Given the description of an element on the screen output the (x, y) to click on. 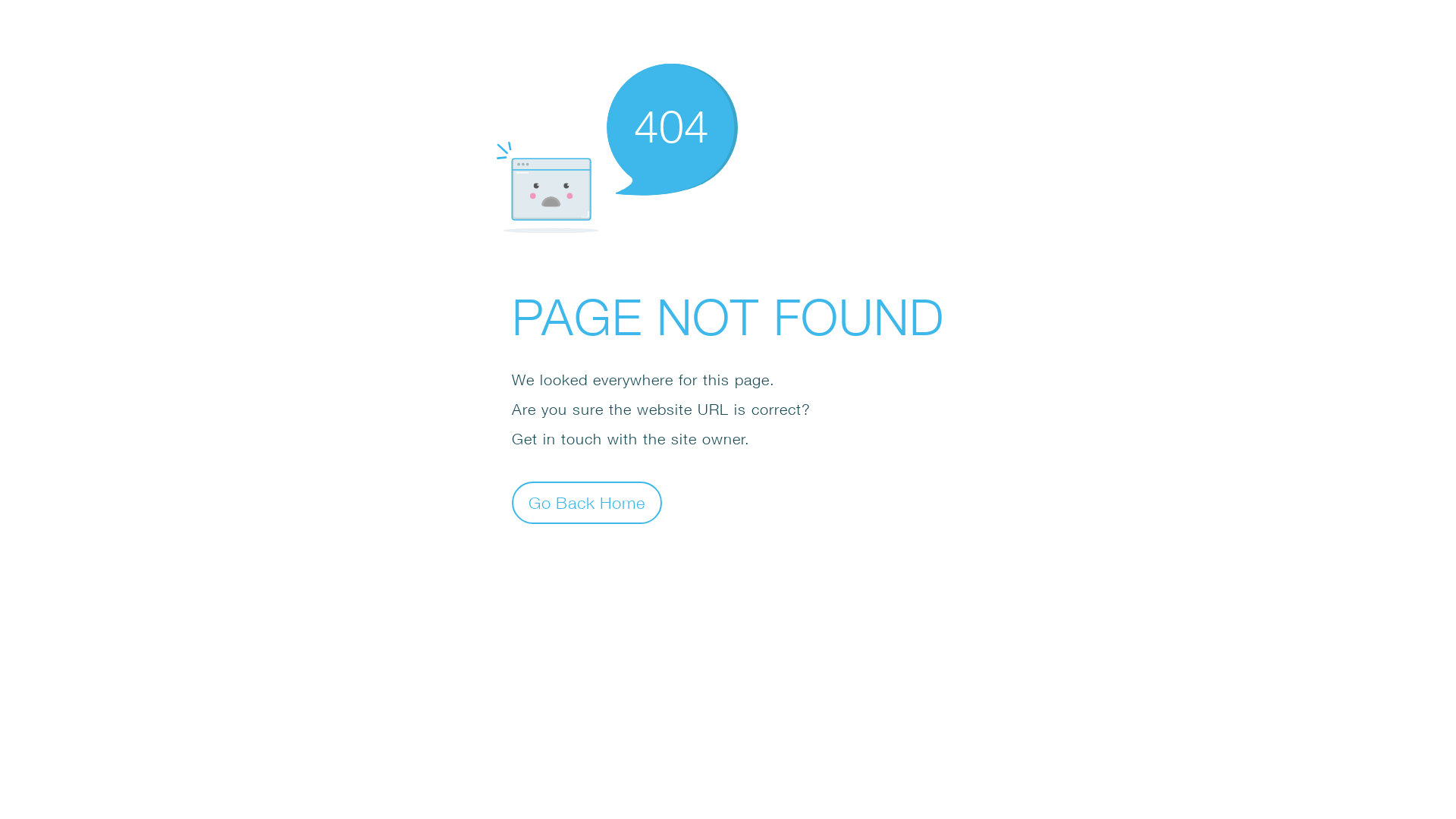
Go Back Home Element type: text (586, 502)
